Given the description of an element on the screen output the (x, y) to click on. 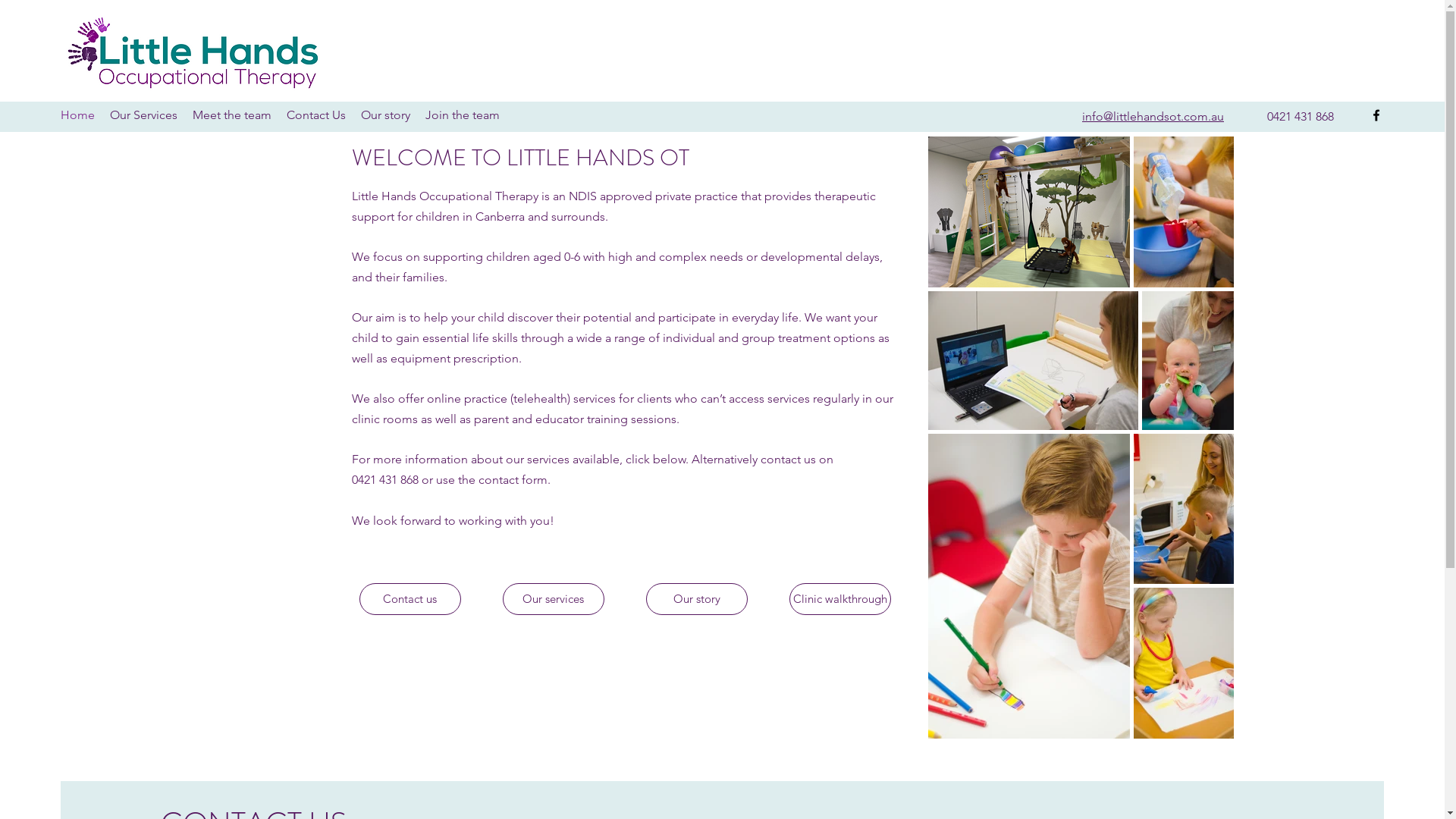
Our Services Element type: text (143, 115)
Contact us Element type: text (410, 599)
Our story Element type: text (385, 115)
Meet the team Element type: text (232, 115)
Our story Element type: text (696, 599)
Home Element type: text (77, 115)
Join the team Element type: text (462, 115)
Our services Element type: text (552, 599)
Contact Us Element type: text (316, 115)
info@littlehandsot.com.au Element type: text (1152, 116)
Clinic walkthrough Element type: text (839, 599)
